Given the description of an element on the screen output the (x, y) to click on. 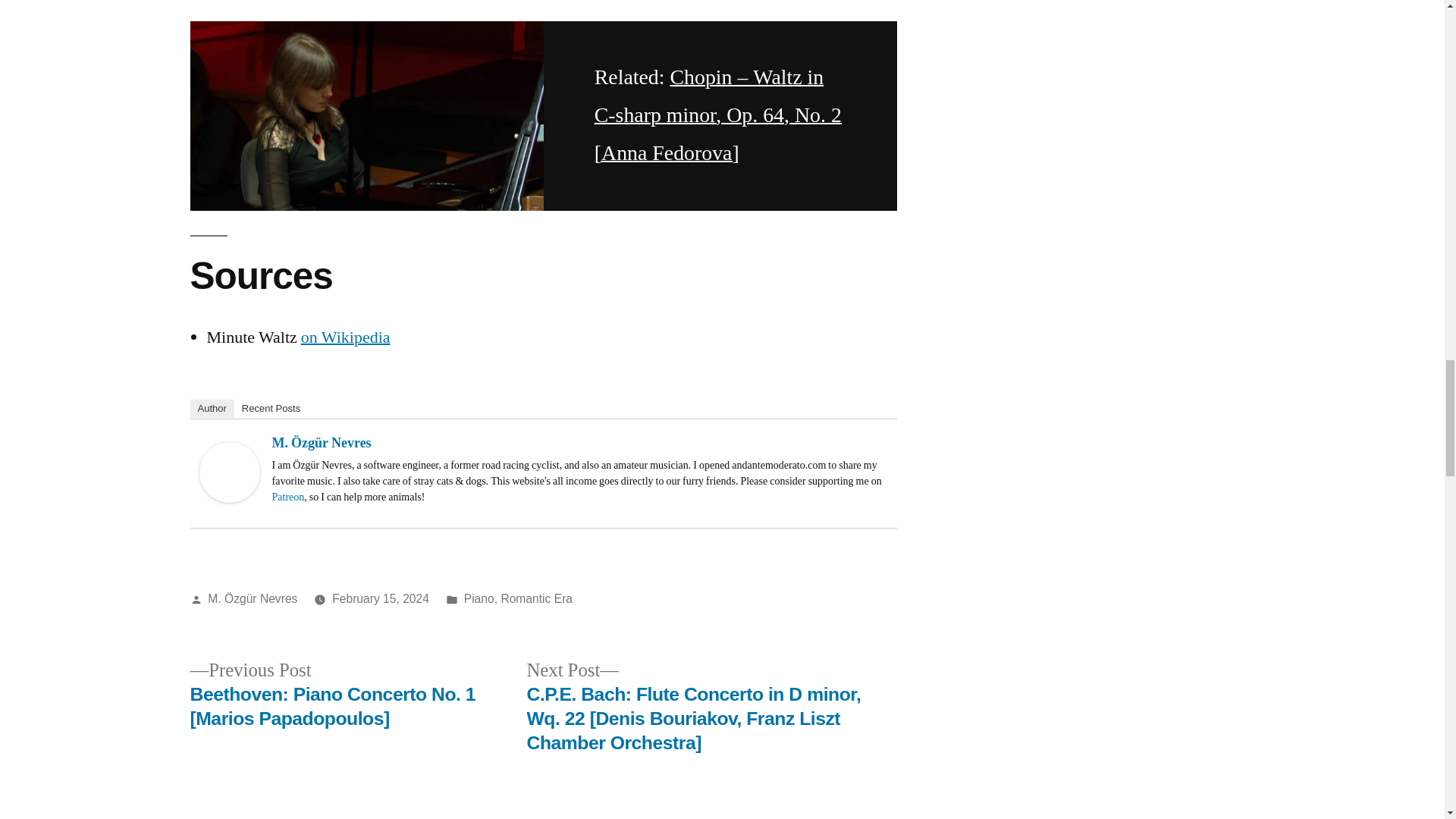
on Wikipedia (345, 337)
Romantic Era (536, 598)
Author (210, 408)
Patreon (287, 496)
Piano (479, 598)
Recent Posts (270, 408)
February 15, 2024 (380, 598)
